Given the description of an element on the screen output the (x, y) to click on. 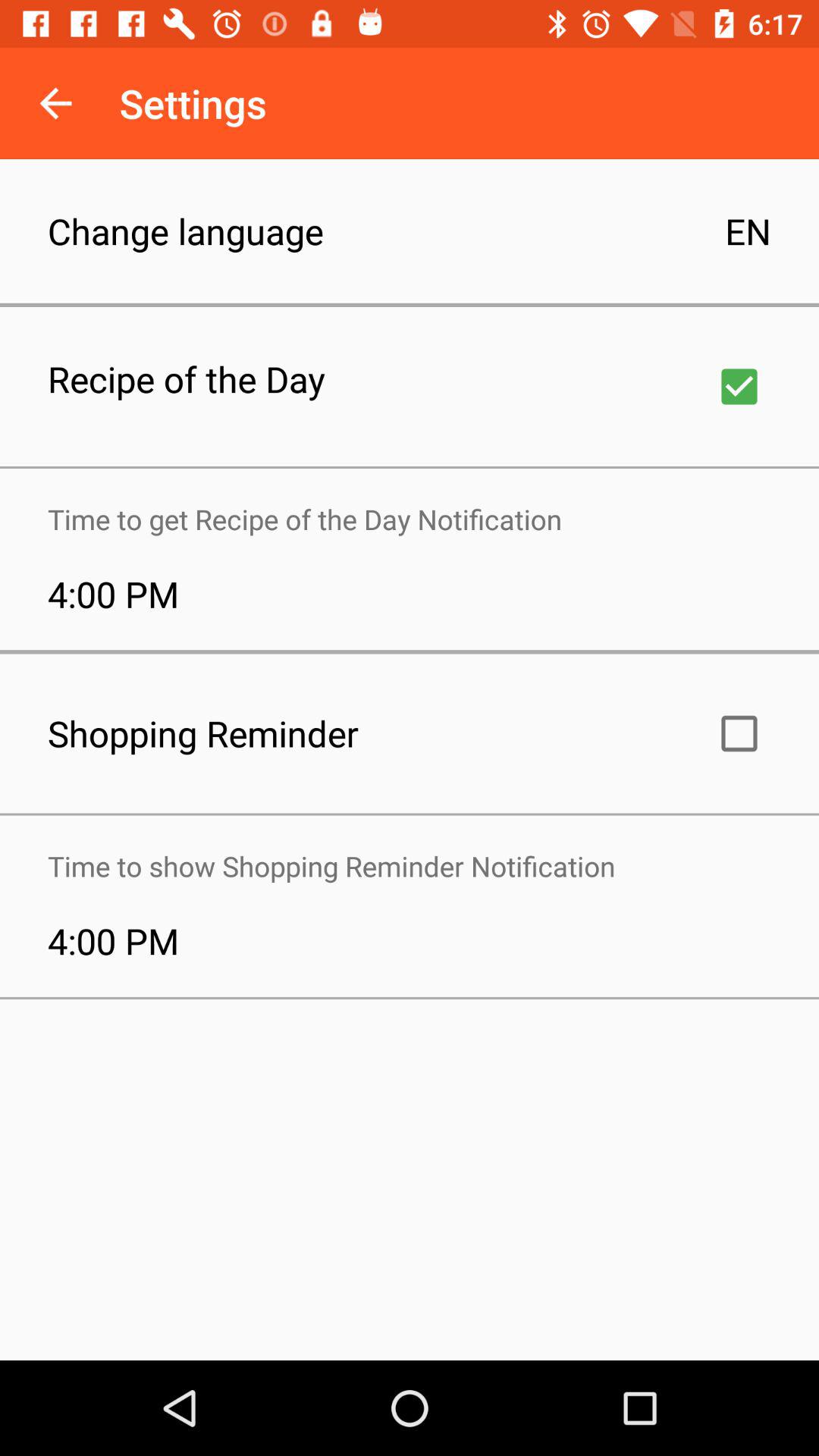
turn on recipe of the day notification (739, 386)
